Given the description of an element on the screen output the (x, y) to click on. 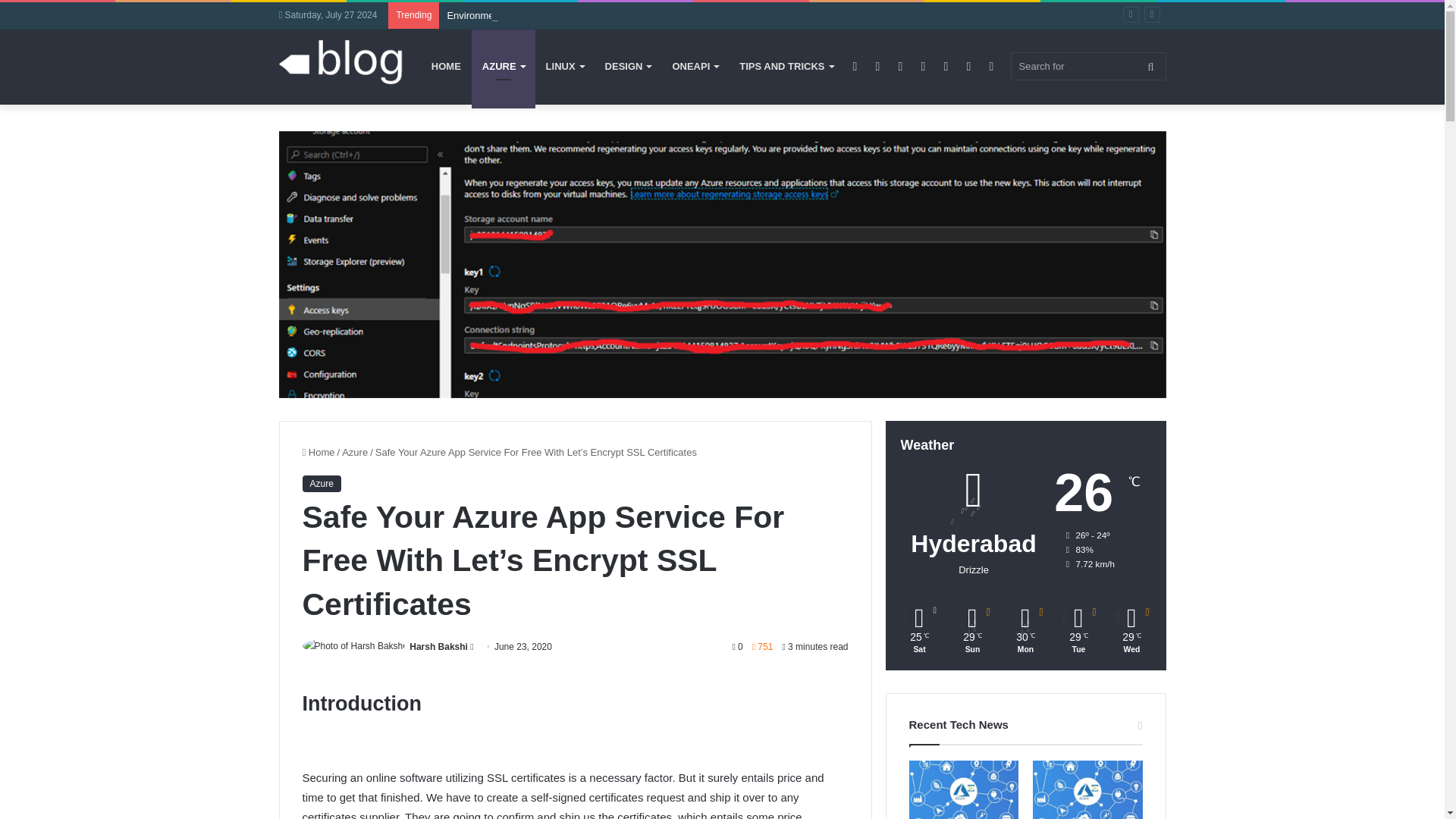
DESIGN (628, 66)
Azure (320, 483)
Harsh Bakshi (438, 646)
Harsh Bakshi (438, 646)
Home (317, 451)
TIPS AND TRICKS (786, 66)
Blog (341, 64)
Azure (355, 451)
ONEAPI (695, 66)
Search for (1088, 66)
